Given the description of an element on the screen output the (x, y) to click on. 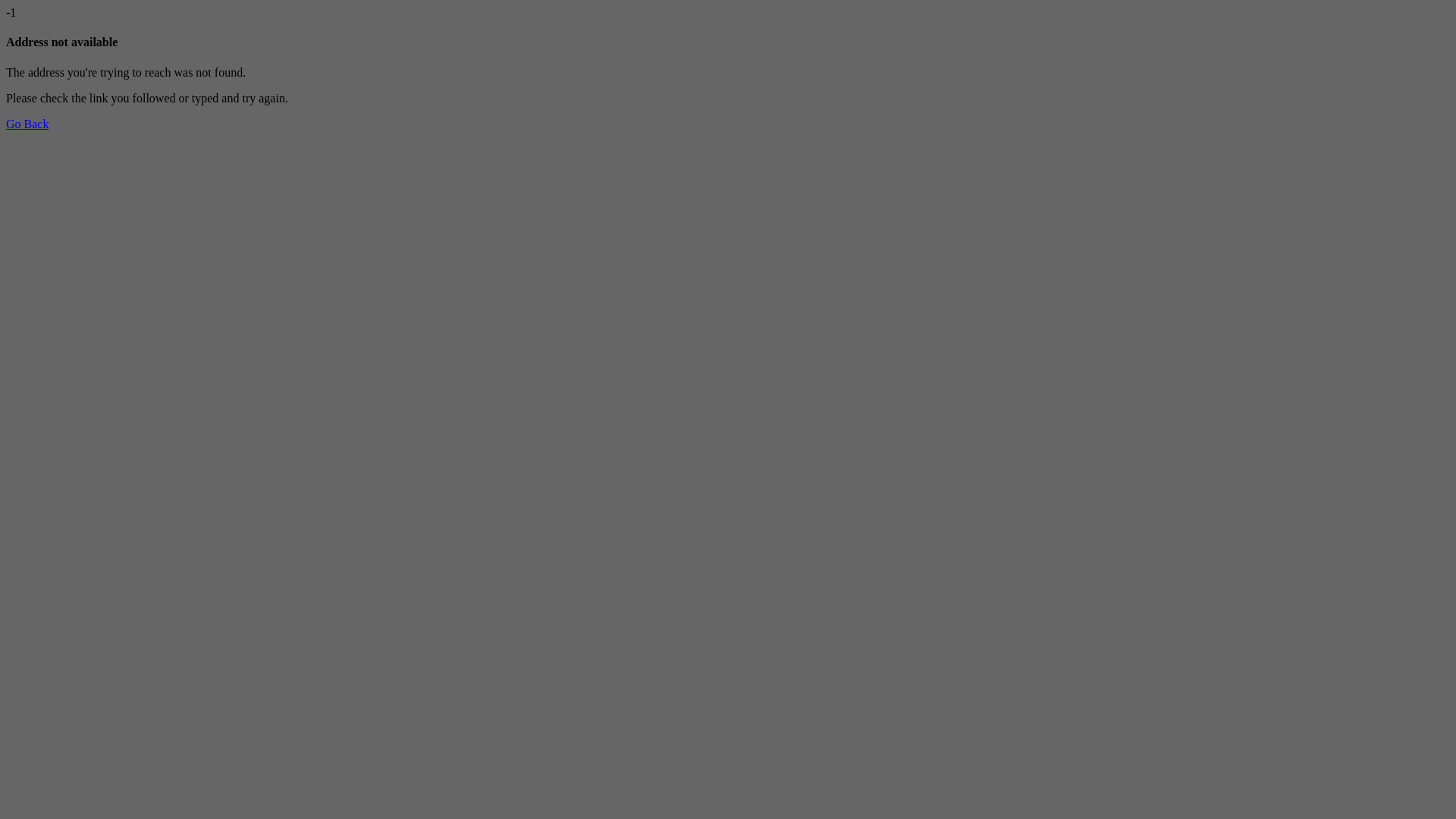
Go Back Element type: text (27, 123)
